Given the description of an element on the screen output the (x, y) to click on. 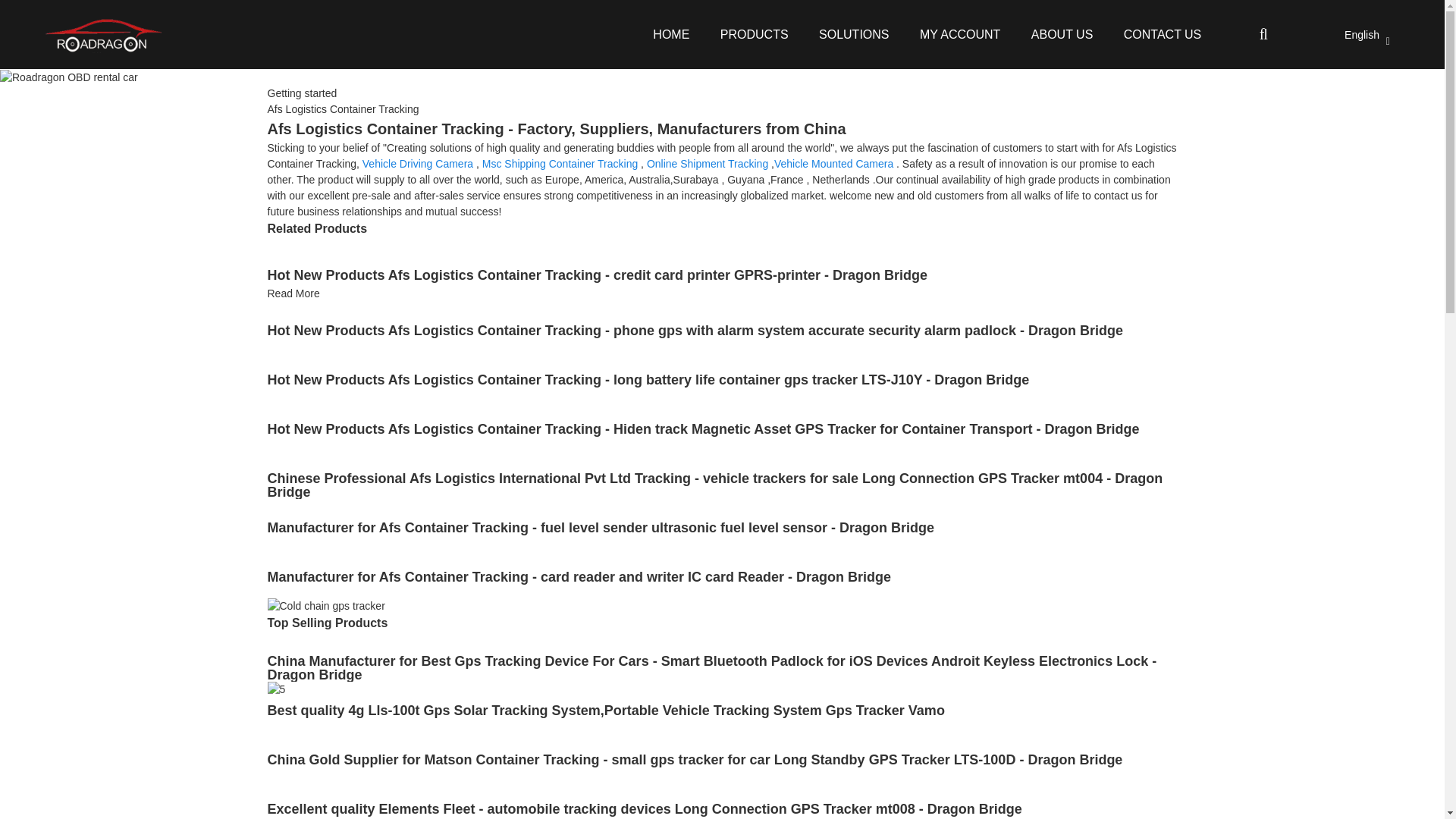
Online Shipment Tracking (707, 163)
PRODUCTS (754, 33)
SOLUTIONS (853, 33)
Vehicle Driving Camera (417, 163)
Msc Shipping Container Tracking (559, 163)
Vehicle Mounted Camera (833, 163)
Msc Shipping Container Tracking (559, 163)
HOME (671, 33)
